Given the description of an element on the screen output the (x, y) to click on. 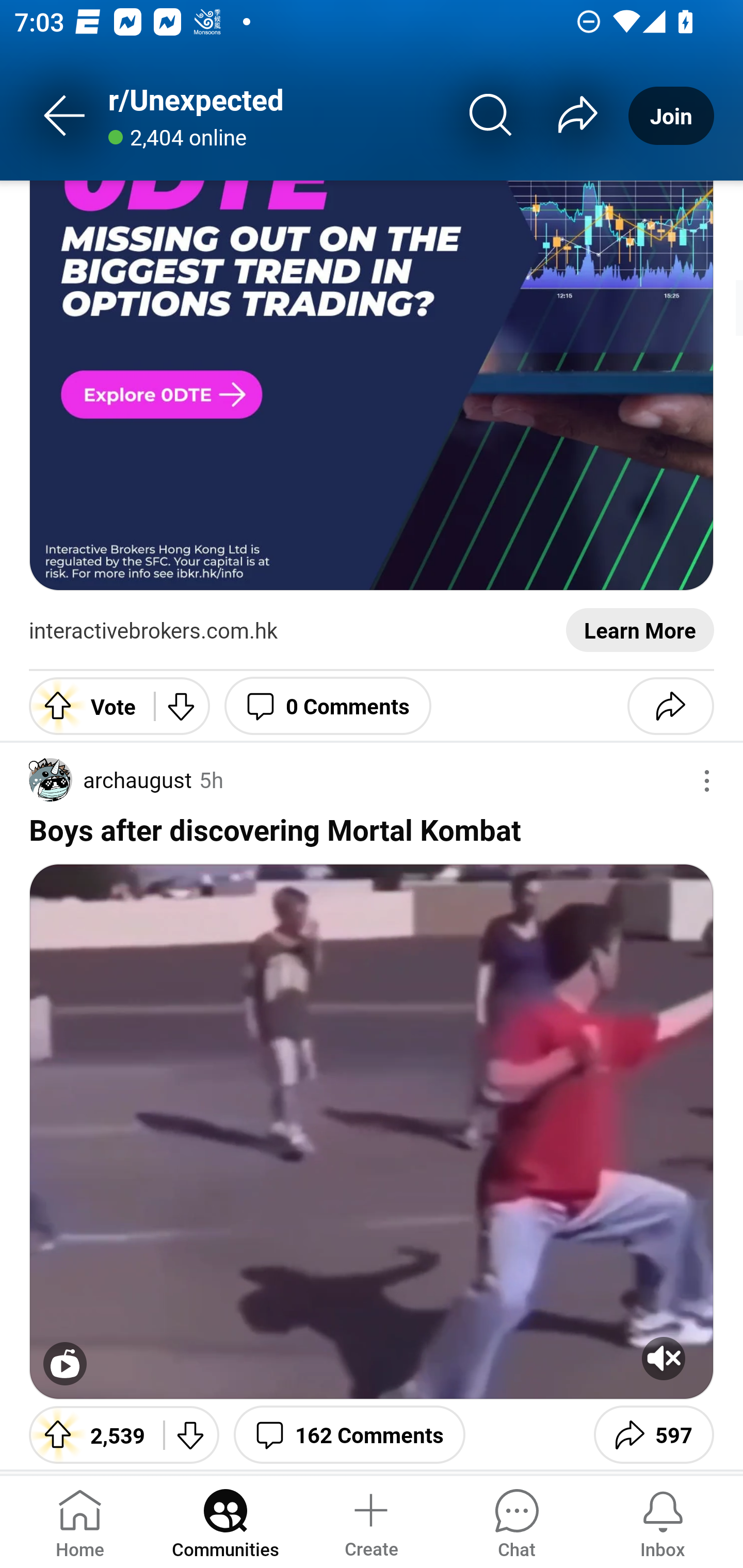
Back (64, 115)
Search r/﻿Unexpected (491, 115)
Share r/﻿Unexpected (577, 115)
Image (371, 385)
interactivebrokers.com.hk (152, 631)
Learn More (640, 631)
Upvote Vote (83, 705)
Downvote (181, 705)
0 Comments (327, 705)
Share (670, 705)
Author archaugust (109, 779)
Unmute (371, 1131)
Unmute (663, 1357)
Full screen video (64, 1364)
Upvote 2,539 (88, 1434)
Downvote (191, 1434)
162 Comments (349, 1434)
Share 597 (653, 1434)
Home (80, 1520)
Communities (225, 1520)
Create a post Create (370, 1520)
Chat (516, 1520)
Inbox (662, 1520)
